Given the description of an element on the screen output the (x, y) to click on. 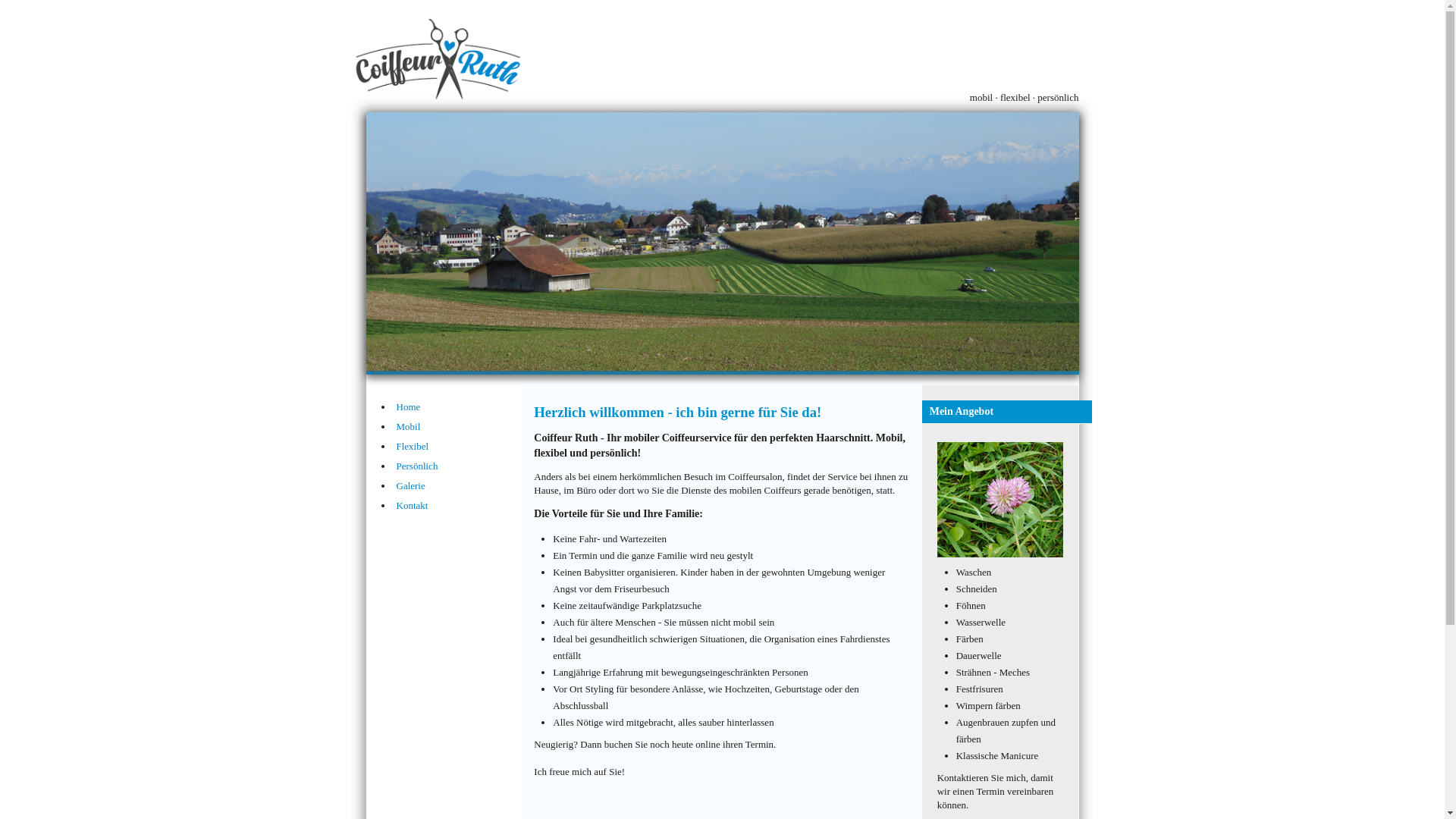
Galerie Element type: text (458, 485)
Mobil Element type: text (458, 426)
Home Element type: text (458, 406)
Coiffeur Ruth Element type: hover (721, 241)
Flexibel Element type: text (458, 446)
Kontakt Element type: text (458, 505)
